Given the description of an element on the screen output the (x, y) to click on. 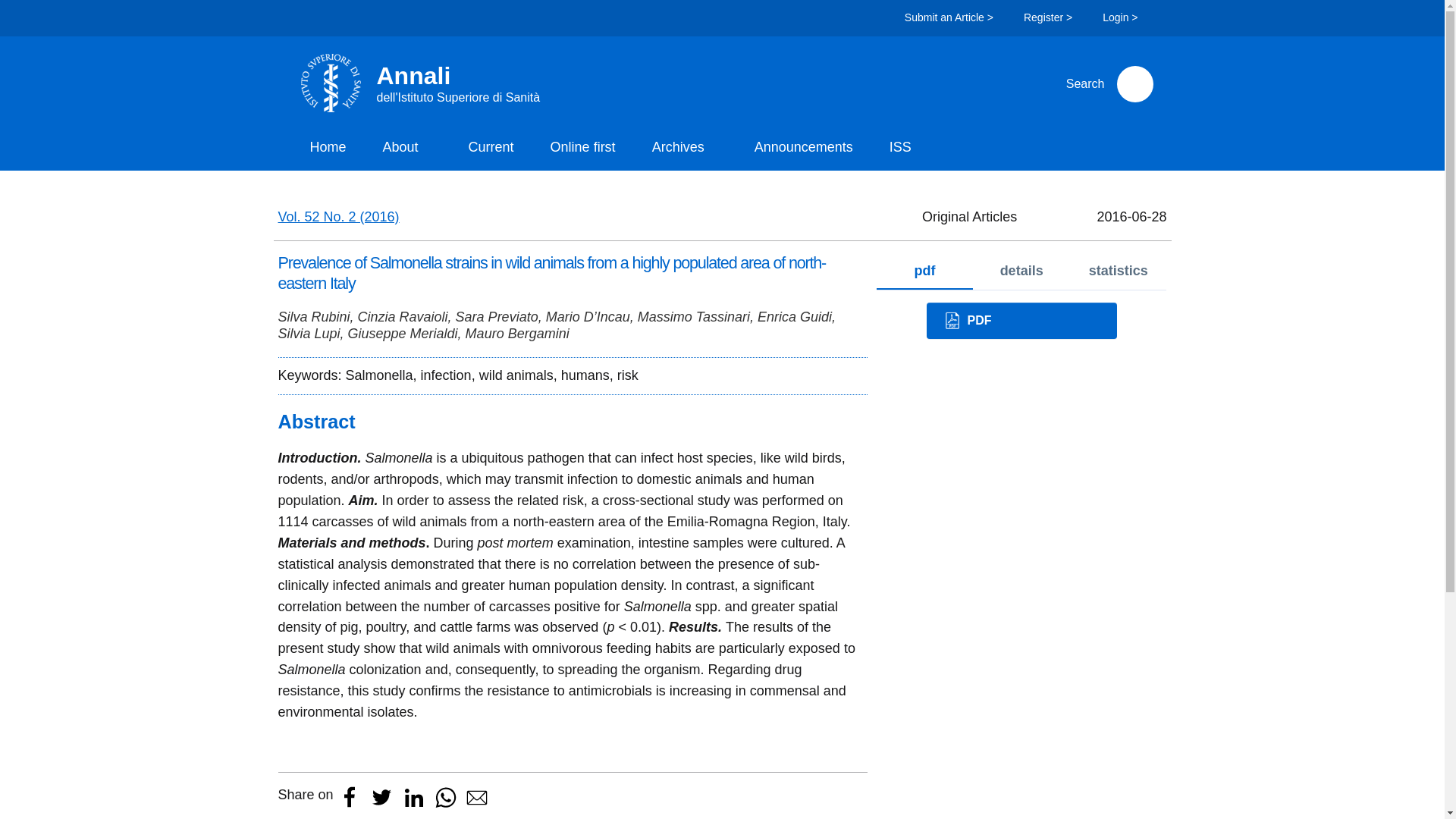
pdf (925, 271)
ISS (906, 148)
Share on Whatsapp (444, 796)
About (407, 148)
details (1021, 271)
Share on Twitter (381, 796)
Home (327, 148)
Send by email (476, 796)
Share on Facebook (349, 796)
Archives (684, 148)
